Given the description of an element on the screen output the (x, y) to click on. 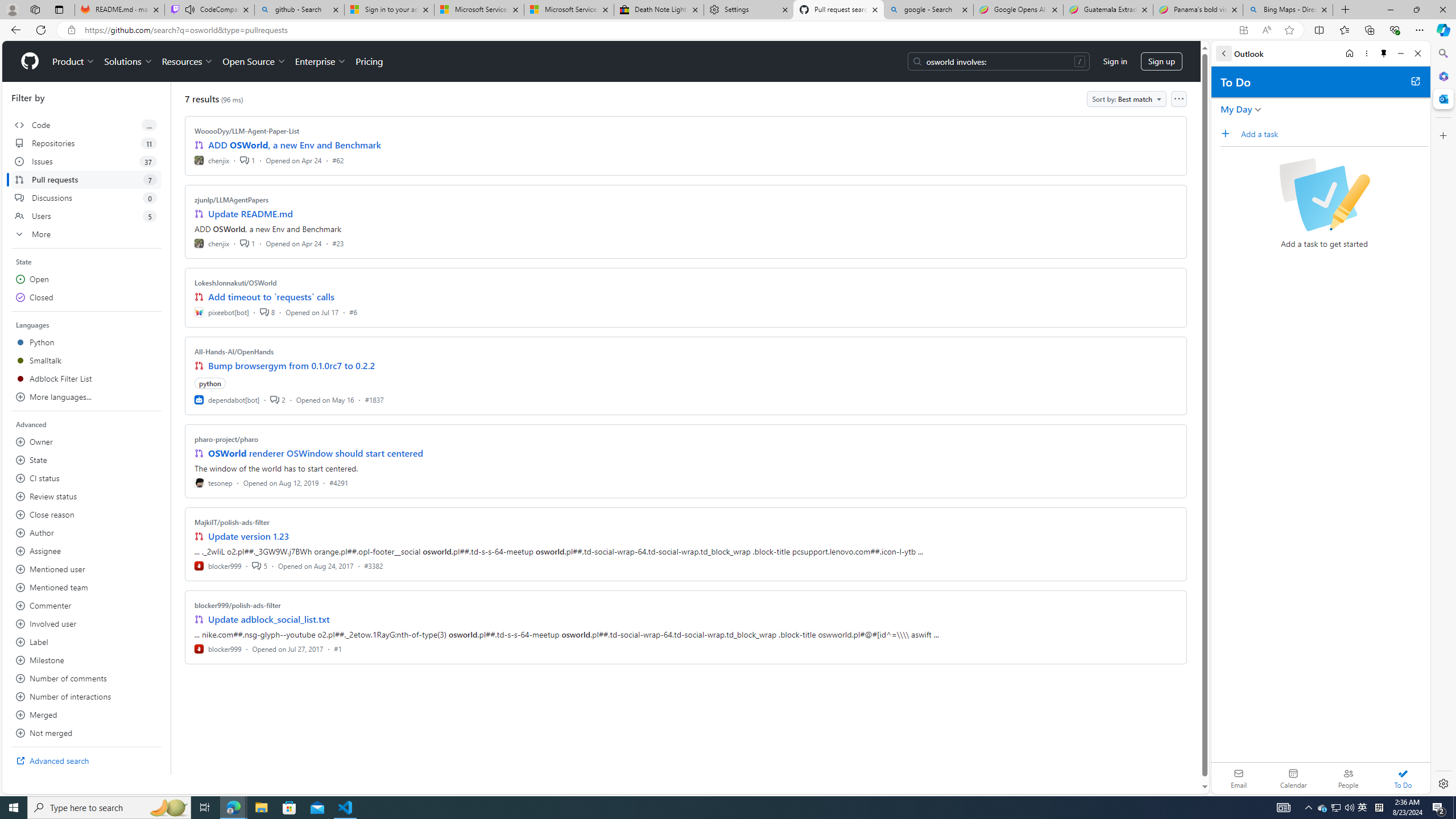
#4291 (338, 482)
Advanced search (86, 760)
App available. Install GitHub (1243, 29)
Enterprise (319, 60)
Update version 1.23 (248, 535)
#1 (337, 648)
Product (74, 60)
#23 (337, 242)
